Given the description of an element on the screen output the (x, y) to click on. 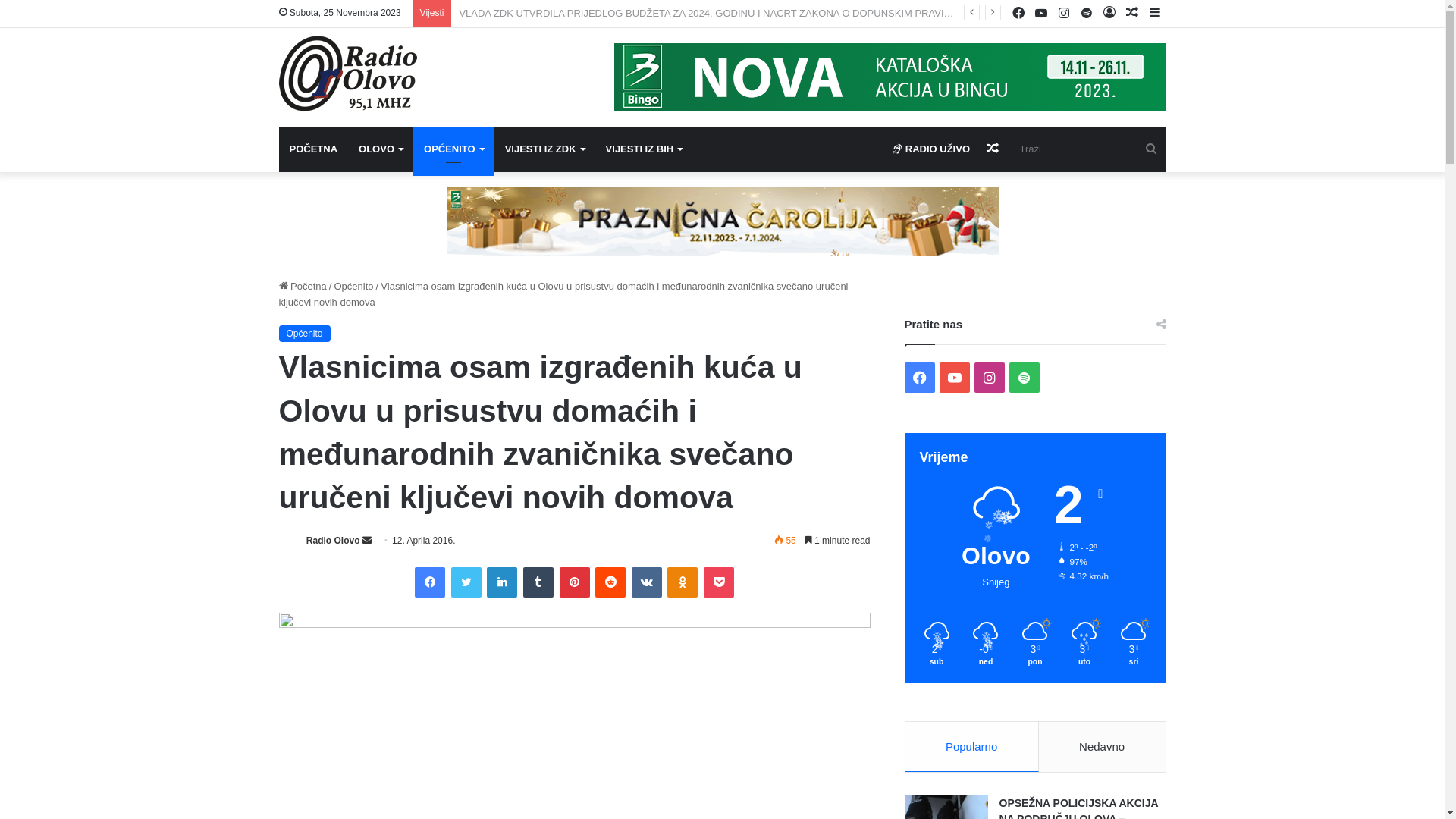
Send an email Element type: text (366, 540)
Facebook Element type: text (429, 582)
Log In Element type: text (1109, 13)
Twitter Element type: text (466, 582)
Nedavno Element type: text (1101, 746)
VKontakte Element type: text (646, 582)
YouTube Element type: text (954, 377)
Radio Olovo Element type: hover (348, 73)
Popularno Element type: text (971, 746)
Radio Olovo Element type: text (333, 540)
VIJESTI IZ BIH Element type: text (644, 149)
Reddit Element type: text (610, 582)
Tumblr Element type: text (538, 582)
Spotify Element type: text (1024, 377)
Instagram Element type: text (1063, 13)
Instagram Element type: text (989, 377)
OLOVO Element type: text (380, 149)
Facebook Element type: text (919, 377)
Odnoklassniki Element type: text (682, 582)
Sidebar Element type: text (1154, 13)
YouTube Element type: text (1040, 13)
Spotify Element type: text (1086, 13)
Pinterest Element type: text (574, 582)
VIJESTI IZ ZDK Element type: text (544, 149)
Facebook Element type: text (1018, 13)
LinkedIn Element type: text (501, 582)
Pocket Element type: text (718, 582)
